Given the description of an element on the screen output the (x, y) to click on. 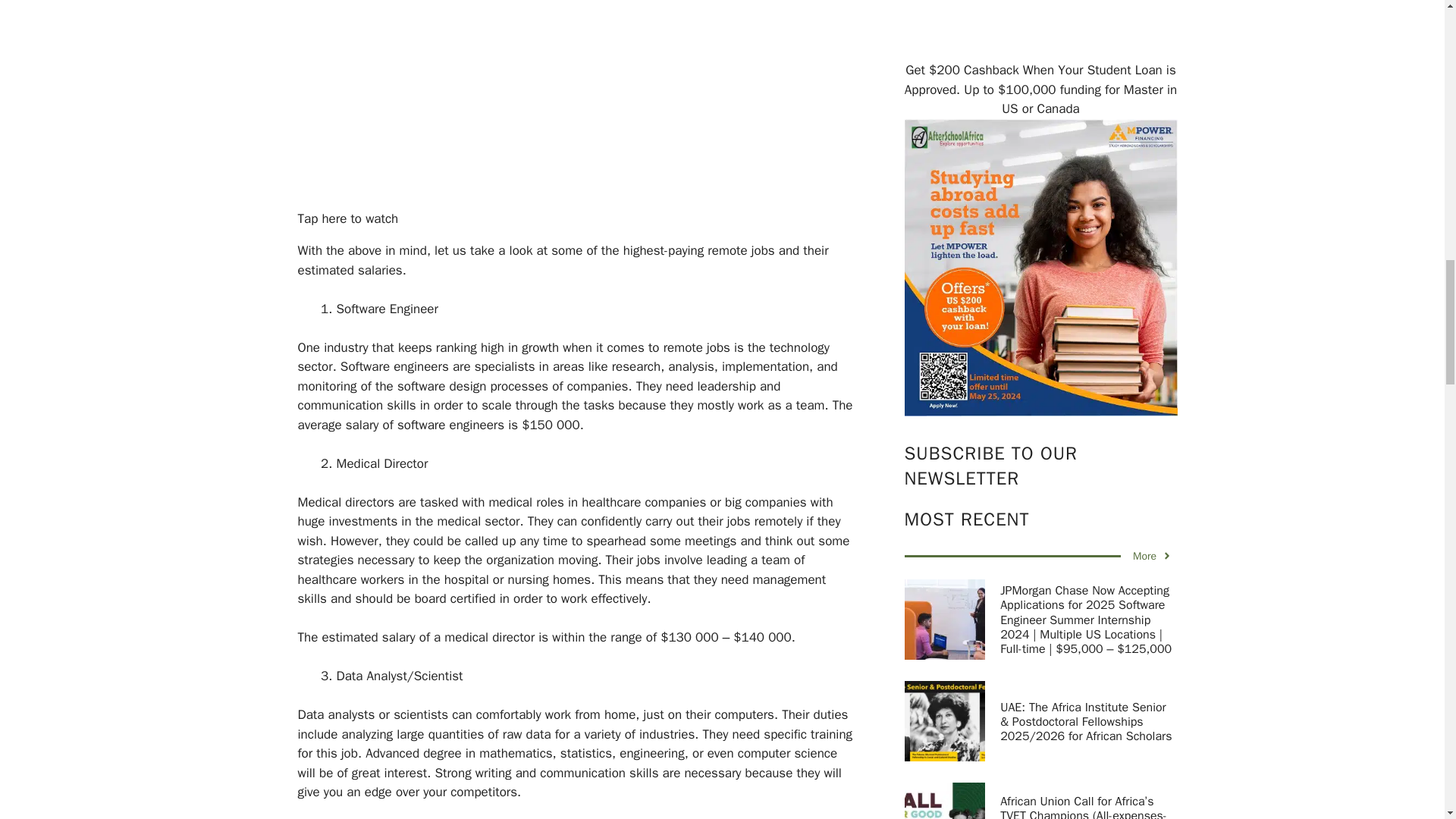
YouTube player (578, 101)
